Given the description of an element on the screen output the (x, y) to click on. 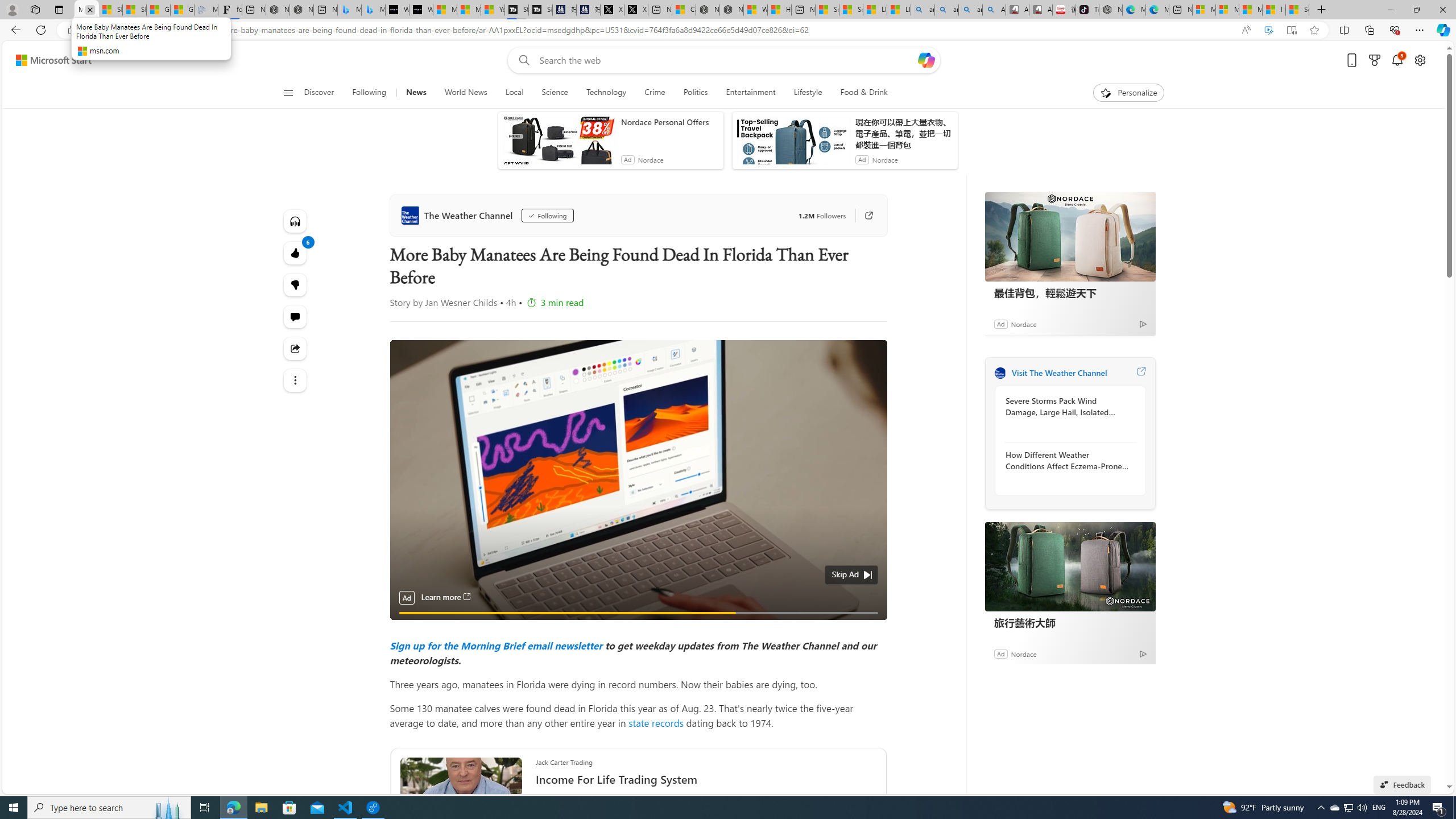
Wildlife - MSN (754, 9)
Ad (999, 653)
Following (370, 92)
Copilot (Ctrl+Shift+.) (1442, 29)
Local (514, 92)
Personalize (1128, 92)
Following (547, 215)
Entertainment (750, 92)
Learn more (446, 597)
video progress bar (637, 612)
Enhance video (1268, 29)
Science (554, 92)
Class: button-glyph (287, 92)
Open navigation menu (287, 92)
